Given the description of an element on the screen output the (x, y) to click on. 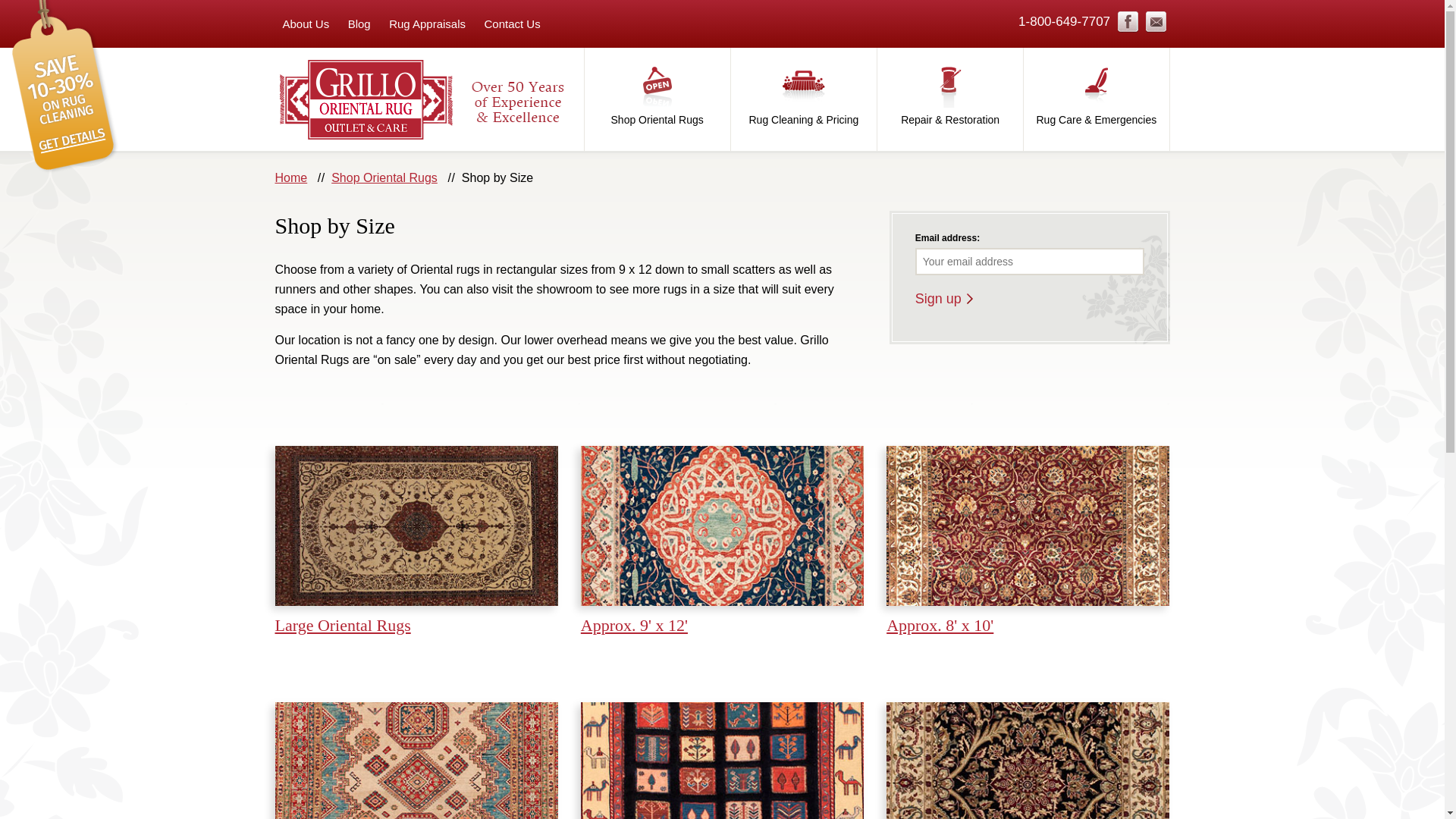
About Us (305, 23)
Sign up (943, 298)
Contact Us (511, 23)
Facebook (1128, 21)
Shop Oriental Rugs (656, 98)
Rug Appraisals (427, 23)
